Given the description of an element on the screen output the (x, y) to click on. 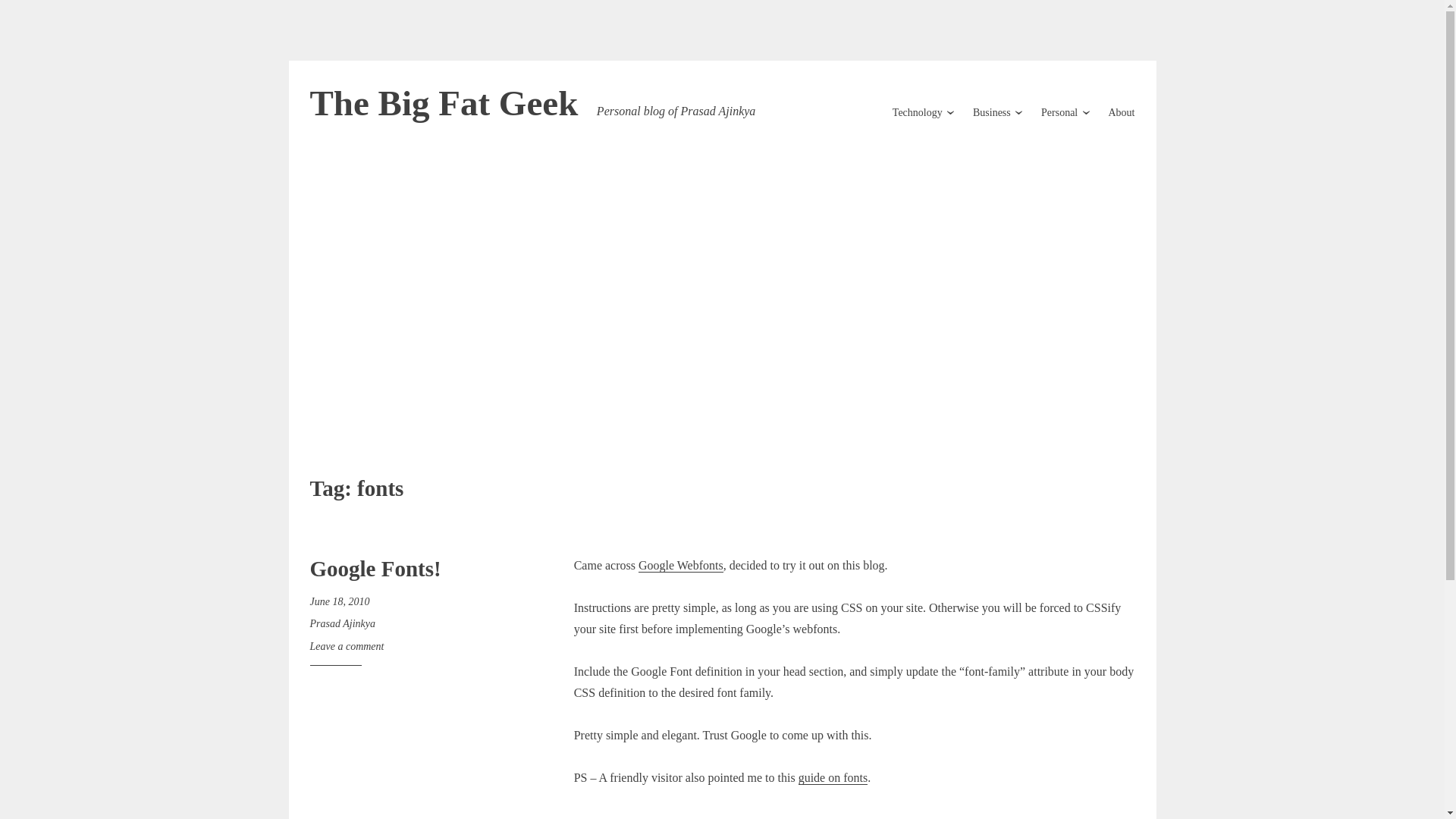
Personal (1059, 112)
Technology (917, 112)
Business (991, 112)
The Big Fat Geek (443, 102)
Google Webfonts (681, 564)
Google Fonts! (374, 568)
June 18, 2010 (338, 601)
About (1121, 112)
